Given the description of an element on the screen output the (x, y) to click on. 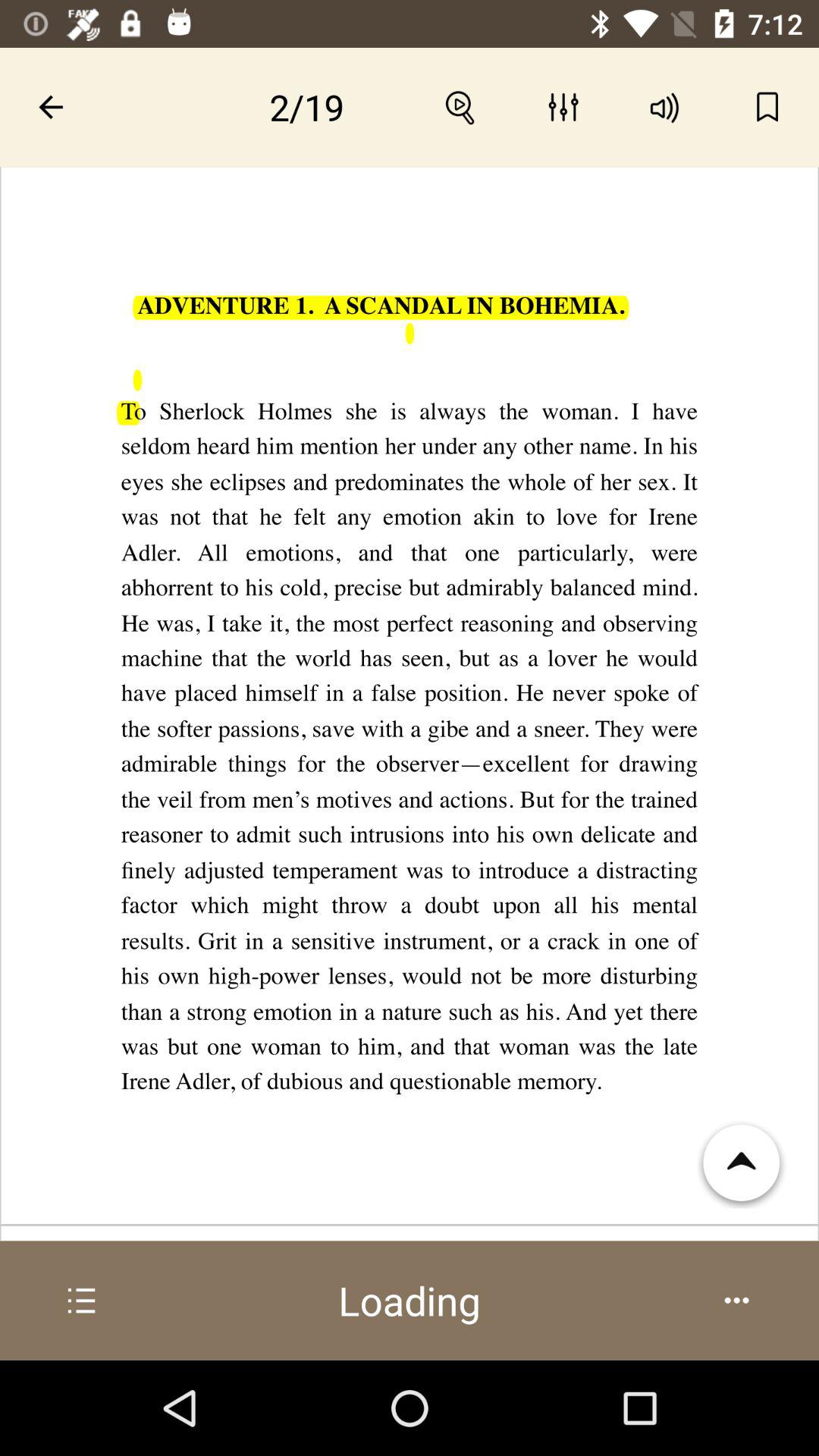
enable text to speech (665, 106)
